Given the description of an element on the screen output the (x, y) to click on. 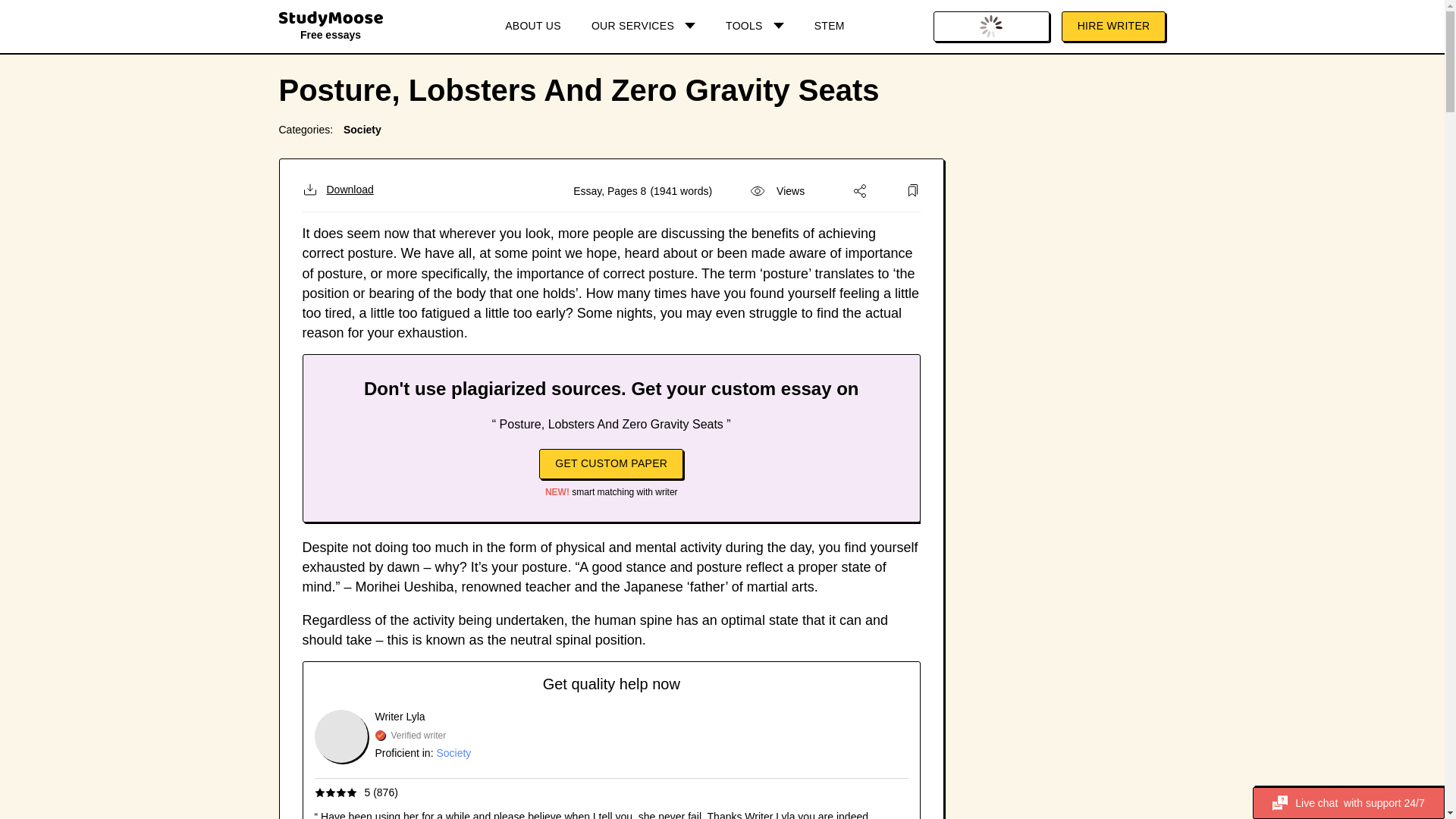
GET CUSTOM PAPER (610, 463)
OUR SERVICES (643, 26)
Society (362, 129)
TOOLS (754, 26)
Free essays (330, 29)
ABOUT US (532, 26)
HIRE WRITER (1113, 26)
Society (452, 752)
Download (336, 189)
STEM (829, 26)
